Given the description of an element on the screen output the (x, y) to click on. 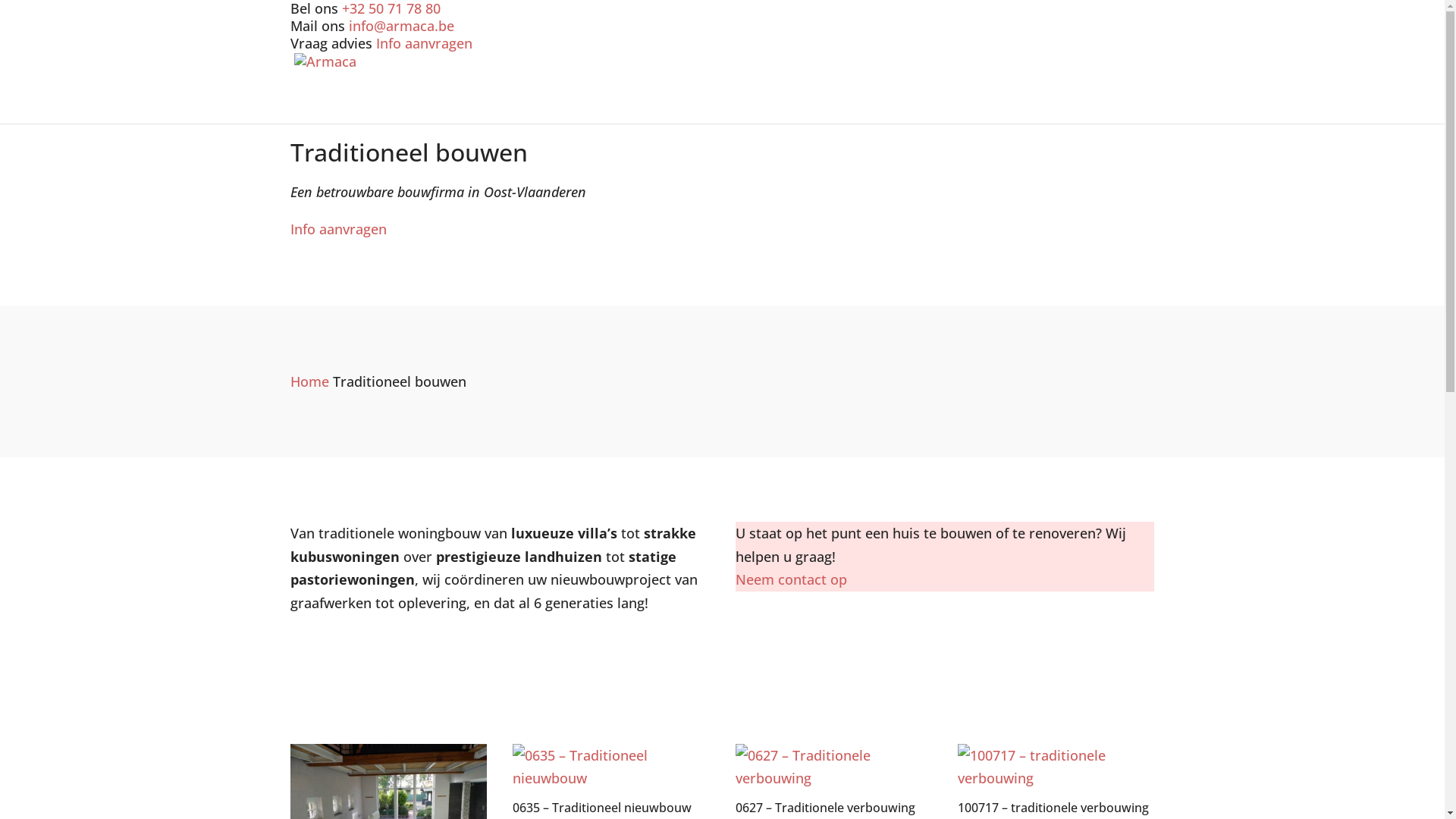
Renovatie Element type: text (893, 102)
Neem contact op Element type: text (791, 579)
Renovatie Element type: text (893, 111)
info@armaca.be Element type: text (401, 25)
Over ons Element type: text (975, 111)
Contact Element type: text (1129, 102)
Info aanvragen Element type: text (424, 43)
Nieuwbouw Element type: text (793, 102)
Referenties Element type: text (689, 102)
Referenties Element type: text (689, 111)
Info aanvragen Element type: text (337, 228)
Contact Element type: text (1129, 111)
Vacature Element type: text (1055, 111)
Home Element type: text (610, 111)
Home Element type: text (308, 381)
Home Element type: text (610, 102)
Nieuwbouw Element type: text (793, 111)
Vacature Element type: text (1055, 102)
Over ons Element type: text (975, 102)
